Given the description of an element on the screen output the (x, y) to click on. 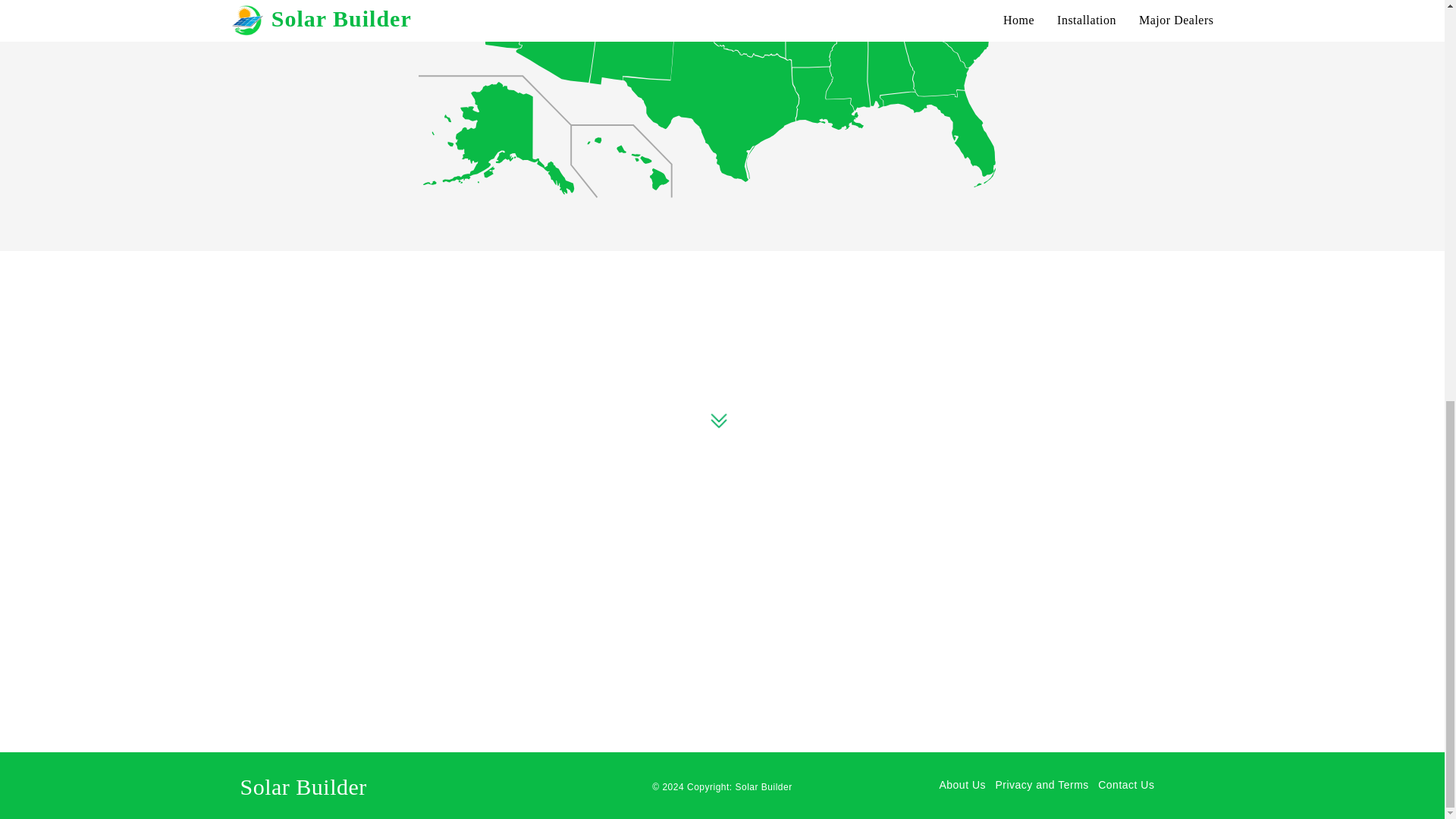
Privacy and Terms (1043, 784)
Contact Us (1125, 784)
About Us (963, 784)
Solar Builder (763, 787)
